Given the description of an element on the screen output the (x, y) to click on. 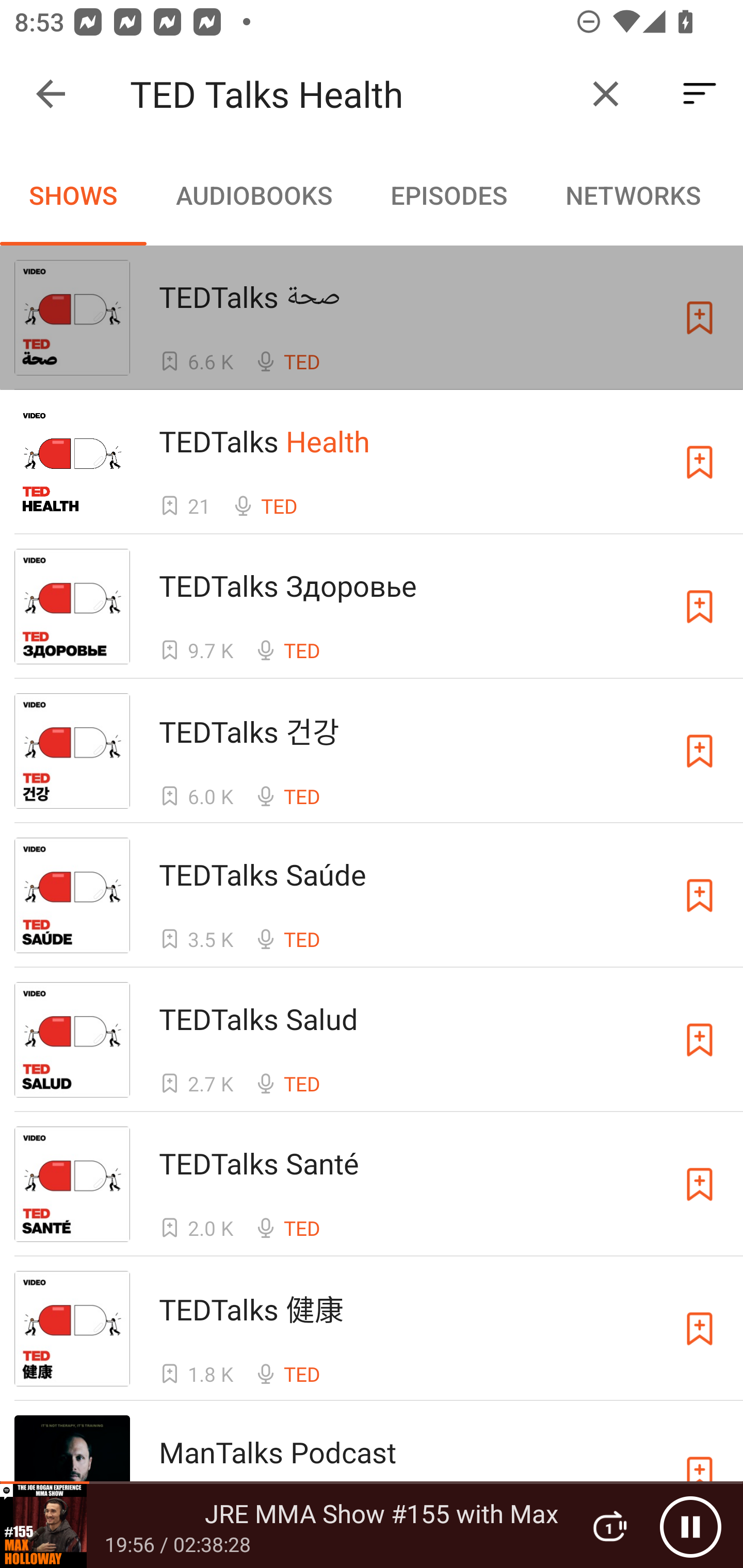
Collapse (50, 93)
Clear query (605, 93)
Sort By (699, 93)
TED Talks Health (349, 94)
SHOWS (73, 195)
AUDIOBOOKS (253, 195)
EPISODES (448, 195)
NETWORKS (632, 195)
TEDTalks صحة TEDTalks صحة  6.6 K  TED Subscribe (371, 318)
Subscribe (699, 317)
Subscribe (699, 462)
Subscribe (699, 606)
TEDTalks 건강 TEDTalks 건강  6.0 K  TED Subscribe (371, 750)
Subscribe (699, 751)
Subscribe (699, 895)
Subscribe (699, 1039)
Subscribe (699, 1183)
TEDTalks 健康 TEDTalks 健康  1.8 K  TED Subscribe (371, 1327)
Subscribe (699, 1328)
Pause (690, 1526)
